Given the description of an element on the screen output the (x, y) to click on. 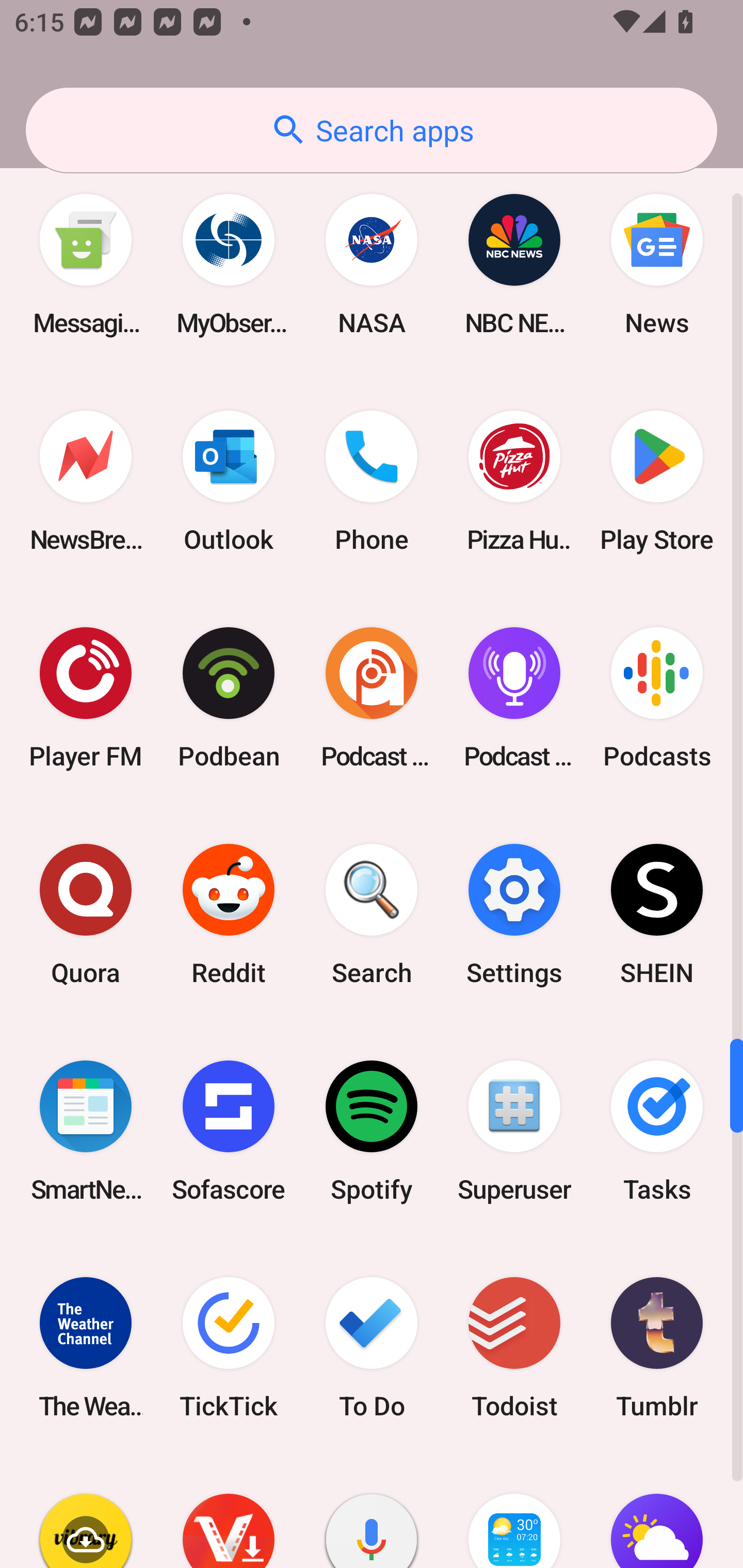
  Search apps (371, 130)
Messaging (85, 264)
MyObservatory (228, 264)
NASA (371, 264)
NBC NEWS (514, 264)
News (656, 264)
NewsBreak (85, 481)
Outlook (228, 481)
Phone (371, 481)
Pizza Hut HK & Macau (514, 481)
Play Store (656, 481)
Player FM (85, 697)
Podbean (228, 697)
Podcast Addict (371, 697)
Podcast Player (514, 697)
Podcasts (656, 697)
Quora (85, 913)
Reddit (228, 913)
Search (371, 913)
Settings (514, 913)
SHEIN (656, 913)
SmartNews (85, 1130)
Sofascore (228, 1130)
Spotify (371, 1130)
Superuser (514, 1130)
Tasks (656, 1130)
The Weather Channel (85, 1347)
TickTick (228, 1347)
To Do (371, 1347)
Todoist (514, 1347)
Tumblr (656, 1347)
Vibrary (85, 1512)
Video Downloader & Ace Player (228, 1512)
Voice Search (371, 1512)
Weather (514, 1512)
Weather (656, 1512)
